Given the description of an element on the screen output the (x, y) to click on. 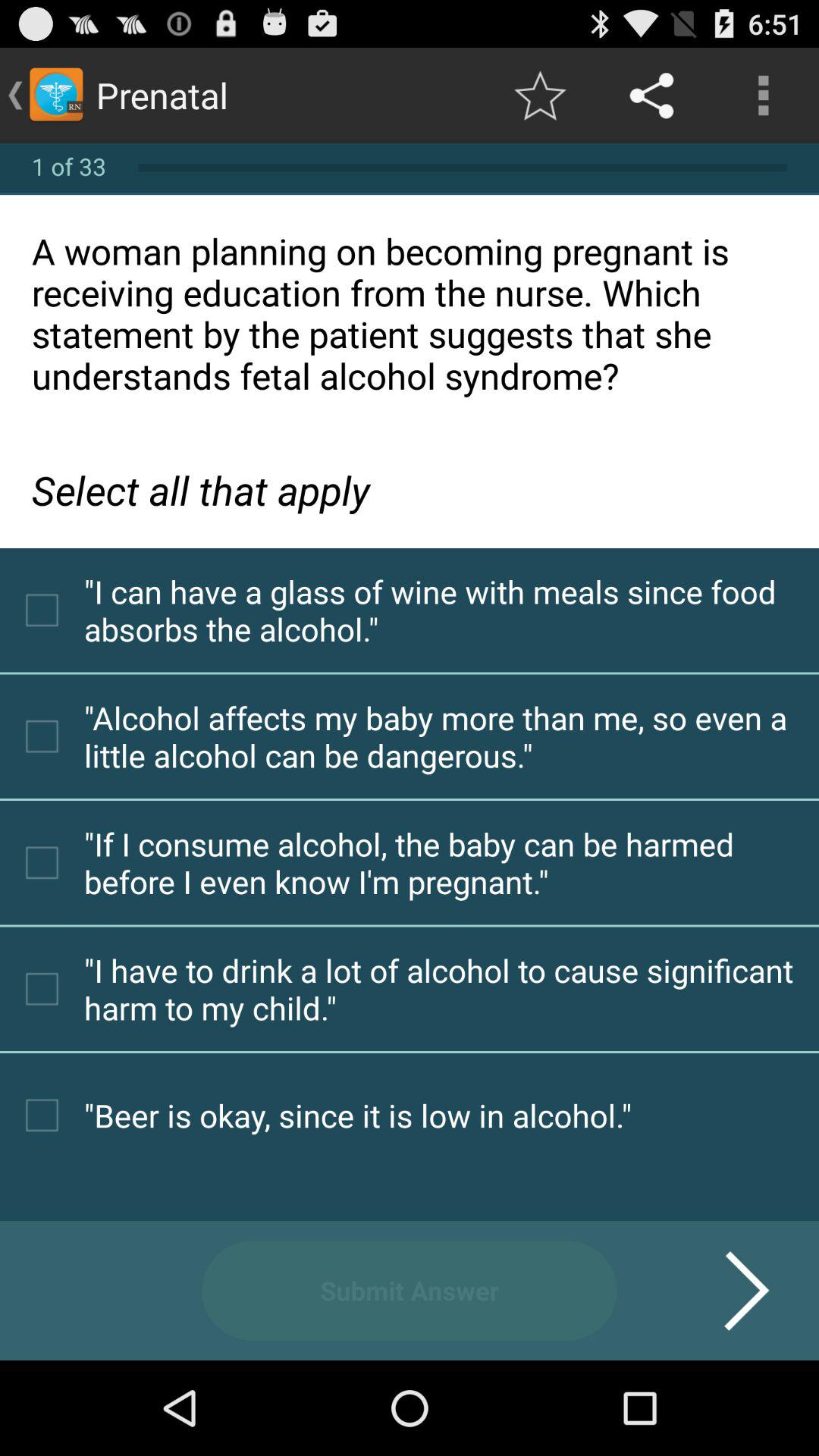
turn on item to the right of submit answer (728, 1290)
